Given the description of an element on the screen output the (x, y) to click on. 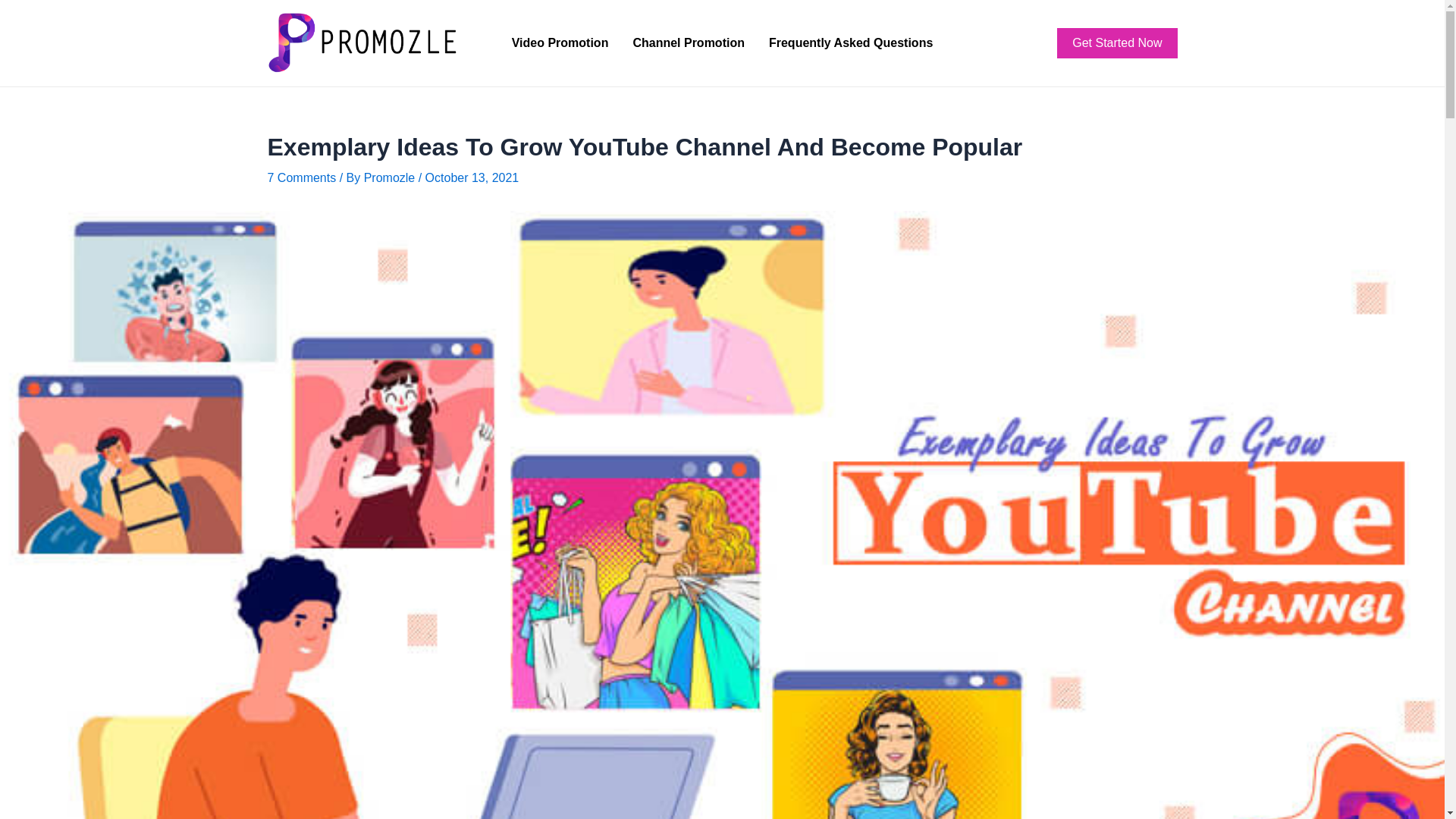
Get Started Now (1116, 42)
Video Promotion (560, 42)
Channel Promotion (688, 42)
7 Comments (301, 177)
View all posts by Promozle (391, 177)
Promozle (391, 177)
Frequently Asked Questions (850, 42)
